Given the description of an element on the screen output the (x, y) to click on. 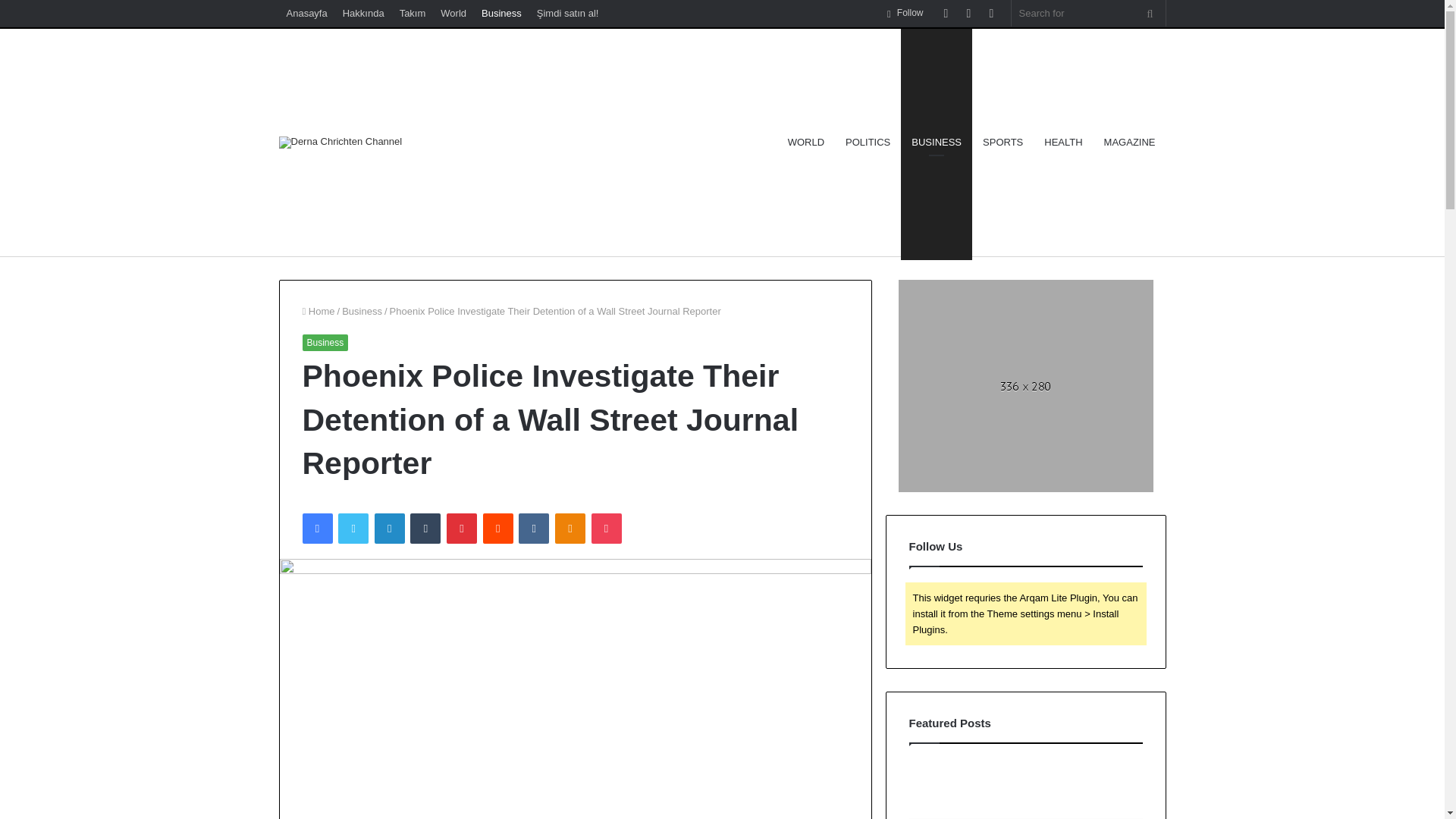
LinkedIn (389, 528)
LinkedIn (389, 528)
Follow (905, 13)
POLITICS (867, 142)
Tumblr (425, 528)
Derna Chrichten Channel (341, 142)
Random Article (968, 13)
Business (501, 13)
VKontakte (533, 528)
Search for (1150, 13)
Home (317, 310)
Twitter (352, 528)
Odnoklassniki (569, 528)
Pinterest (461, 528)
Log In (946, 13)
